Given the description of an element on the screen output the (x, y) to click on. 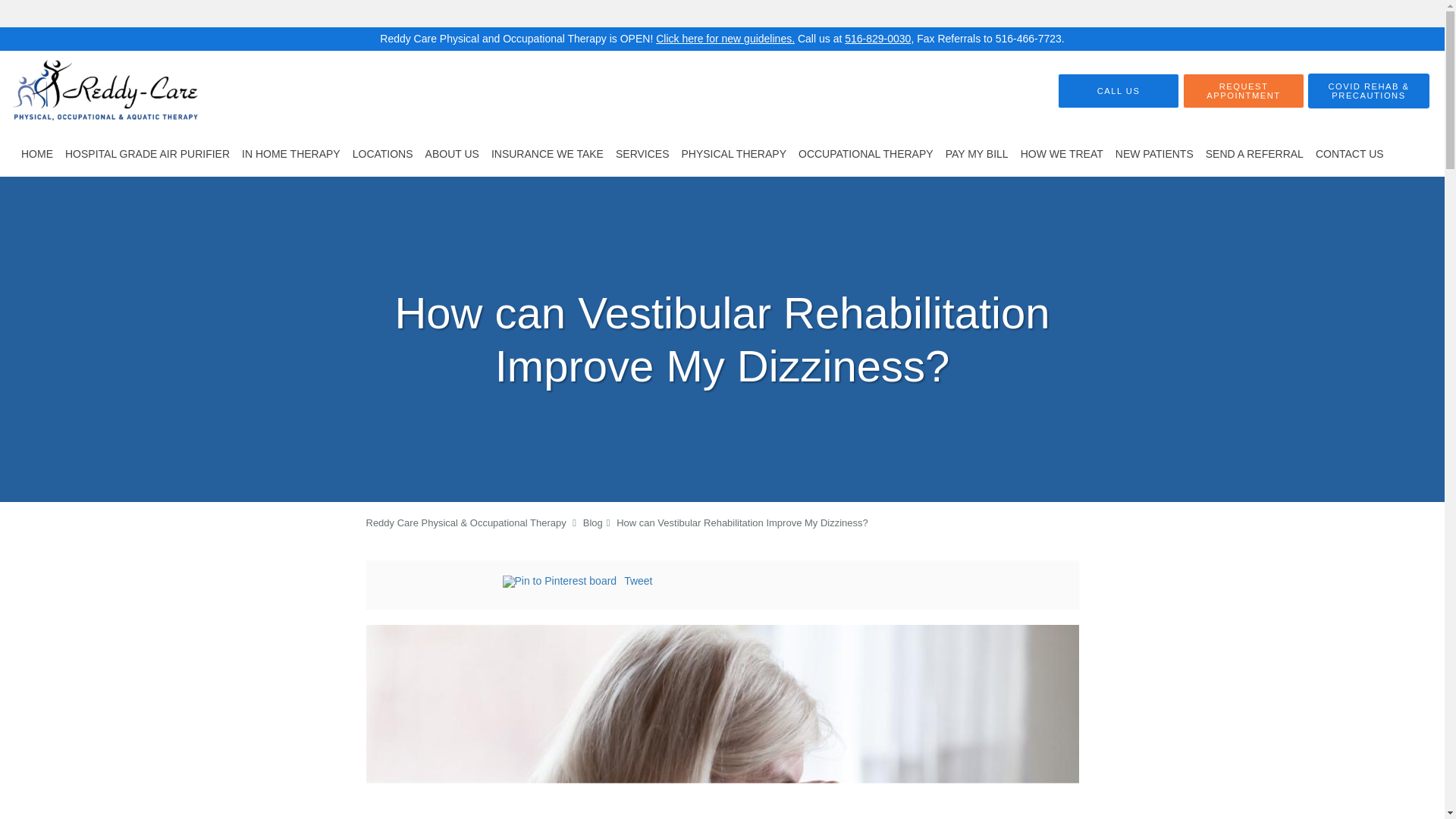
ABOUT US (451, 153)
REQUEST APPOINTMENT (1243, 90)
Click here for new guidelines. (725, 38)
HOSPITAL GRADE AIR PURIFIER (147, 153)
HOME (36, 153)
LOCATIONS (382, 153)
IN HOME THERAPY (290, 153)
Facebook social button (441, 583)
CALL US (1118, 90)
516-829-0030 (877, 38)
